Given the description of an element on the screen output the (x, y) to click on. 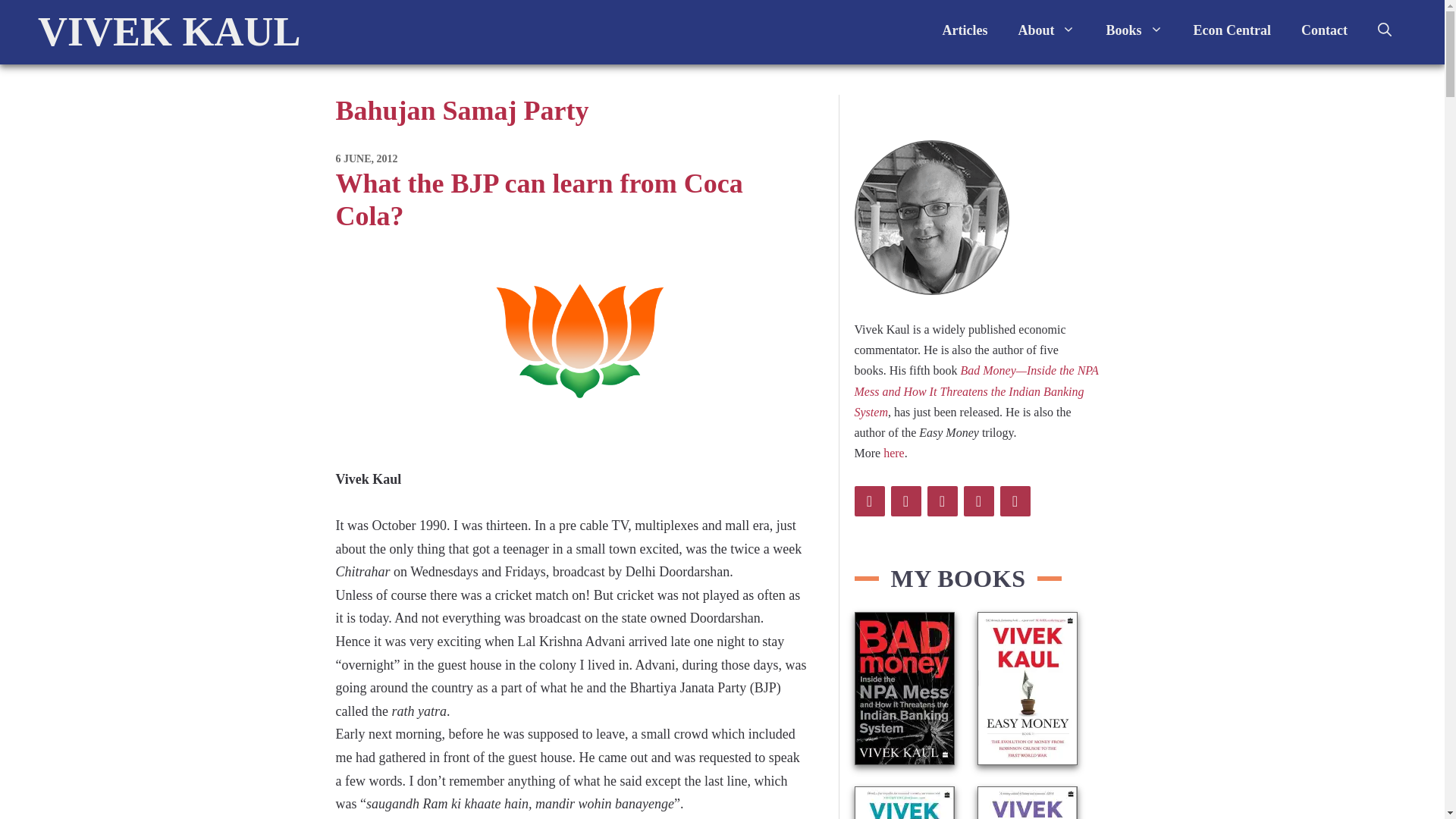
About (1046, 30)
What the BJP can learn from Coca Cola? (538, 199)
Books written by Vivek Kaul (1133, 30)
Articles (964, 30)
Contact (1323, 30)
VIVEK KAUL (169, 31)
Get in touch  (1323, 30)
Books (1133, 30)
Econ Central (1232, 30)
